Given the description of an element on the screen output the (x, y) to click on. 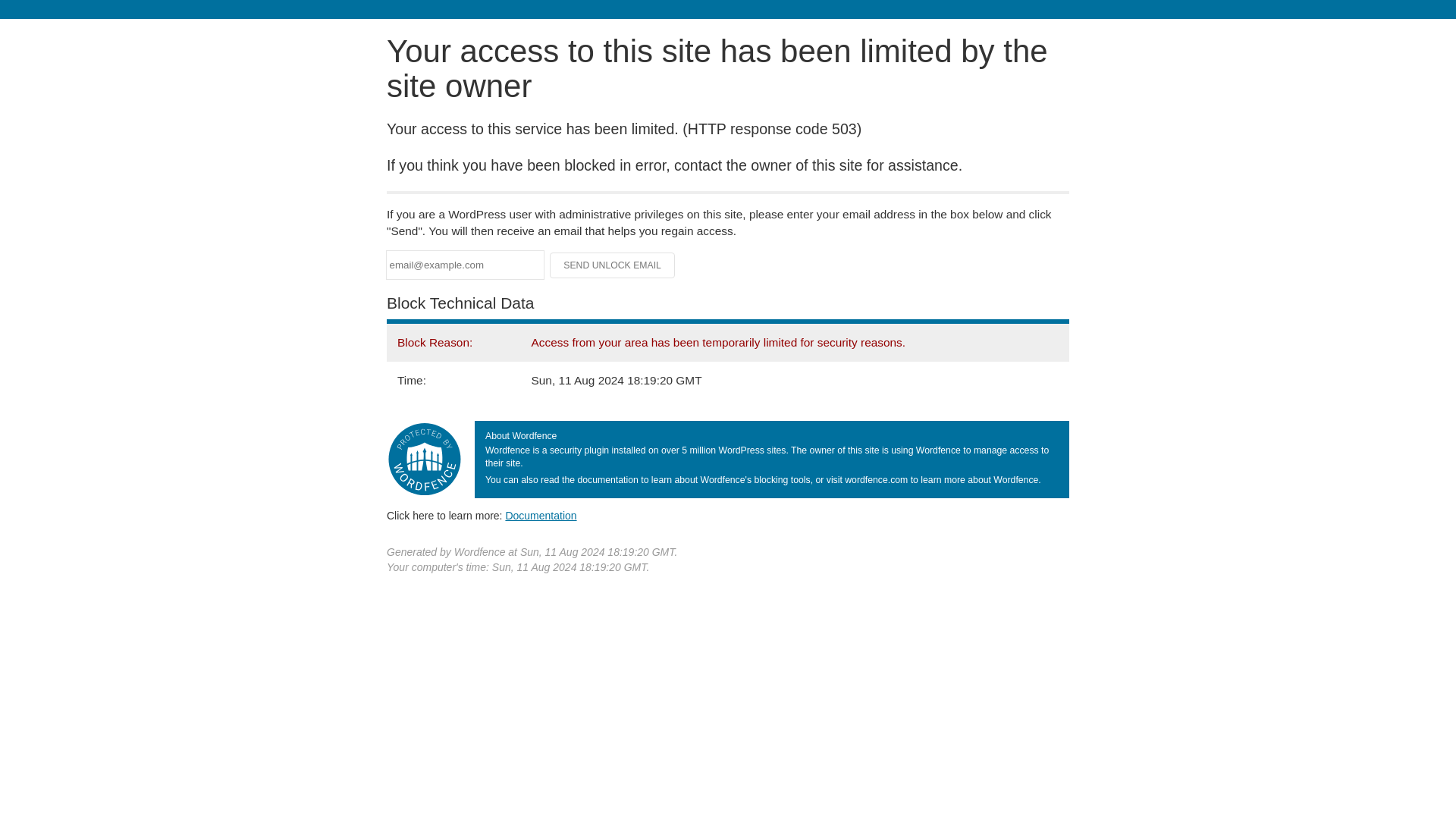
Send Unlock Email (612, 265)
Documentation (540, 515)
Send Unlock Email (612, 265)
